Given the description of an element on the screen output the (x, y) to click on. 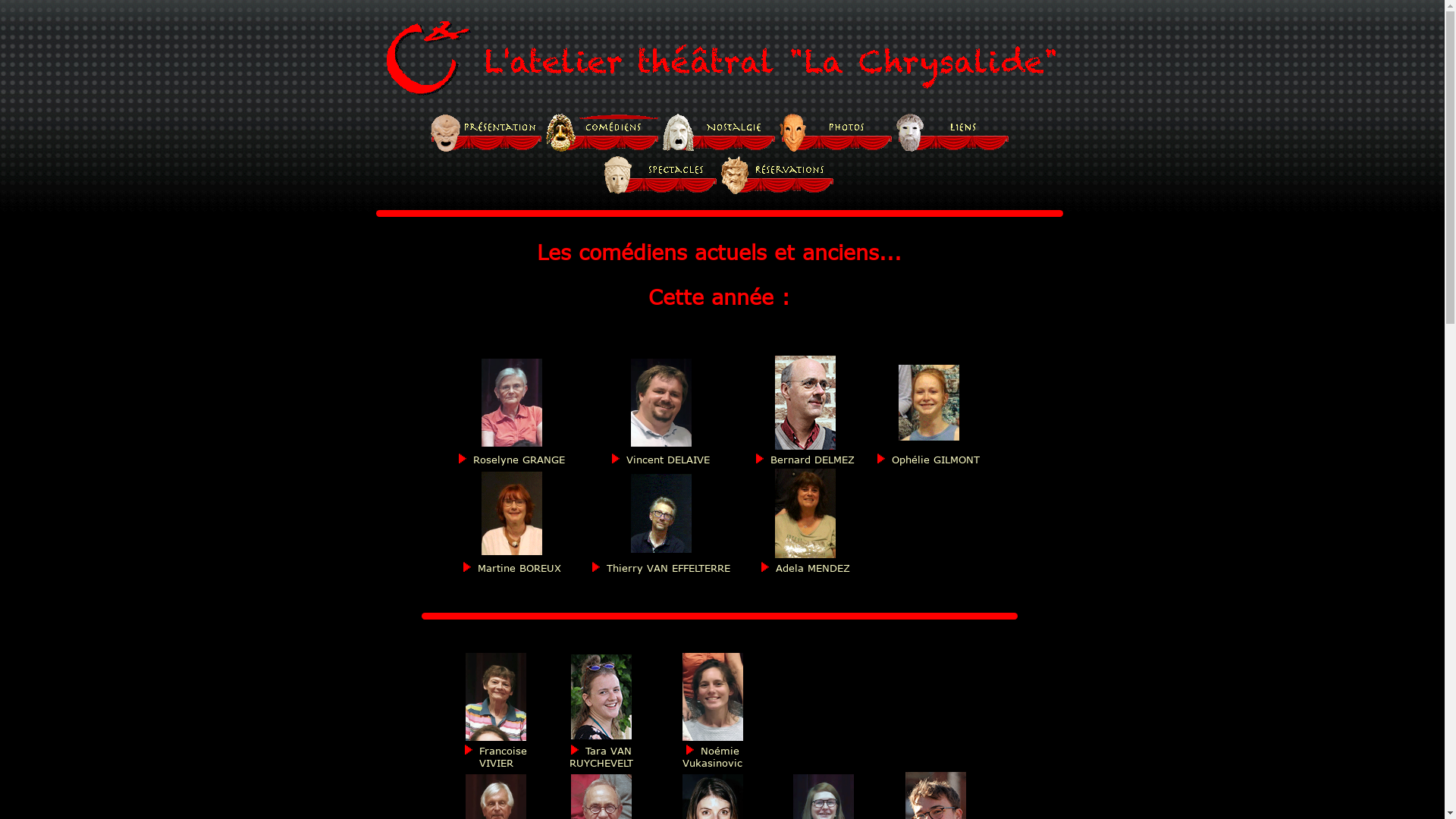
Liens Element type: hover (953, 132)
Photos Element type: hover (836, 132)
Accueil  Element type: hover (485, 132)
